Given the description of an element on the screen output the (x, y) to click on. 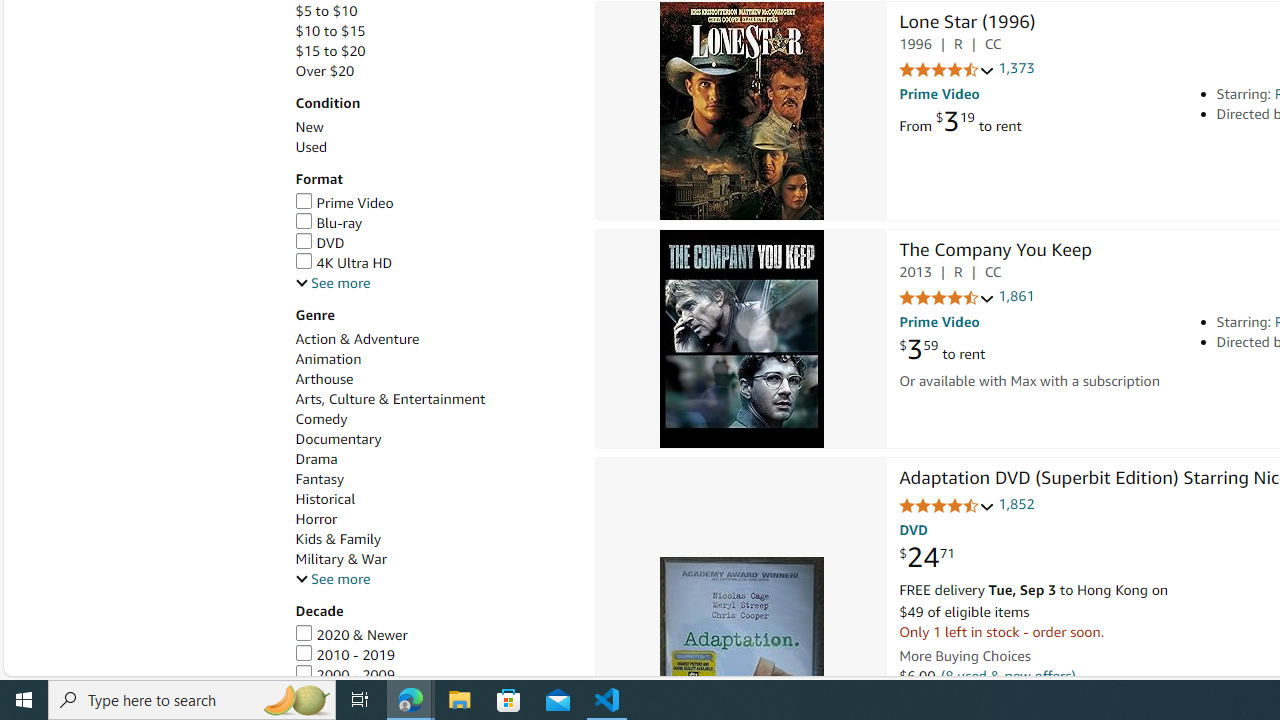
Comedy (434, 419)
DVD (319, 242)
Lone Star (1996) (741, 111)
Arthouse (324, 379)
Horror (315, 519)
Animation (328, 358)
Drama (434, 459)
$10 to $15 (434, 31)
Go back to filtering menu (84, 666)
New (434, 127)
4.4 out of 5 stars (946, 506)
Animation (434, 359)
Action & Adventure (356, 339)
4.3 out of 5 stars (946, 298)
